Given the description of an element on the screen output the (x, y) to click on. 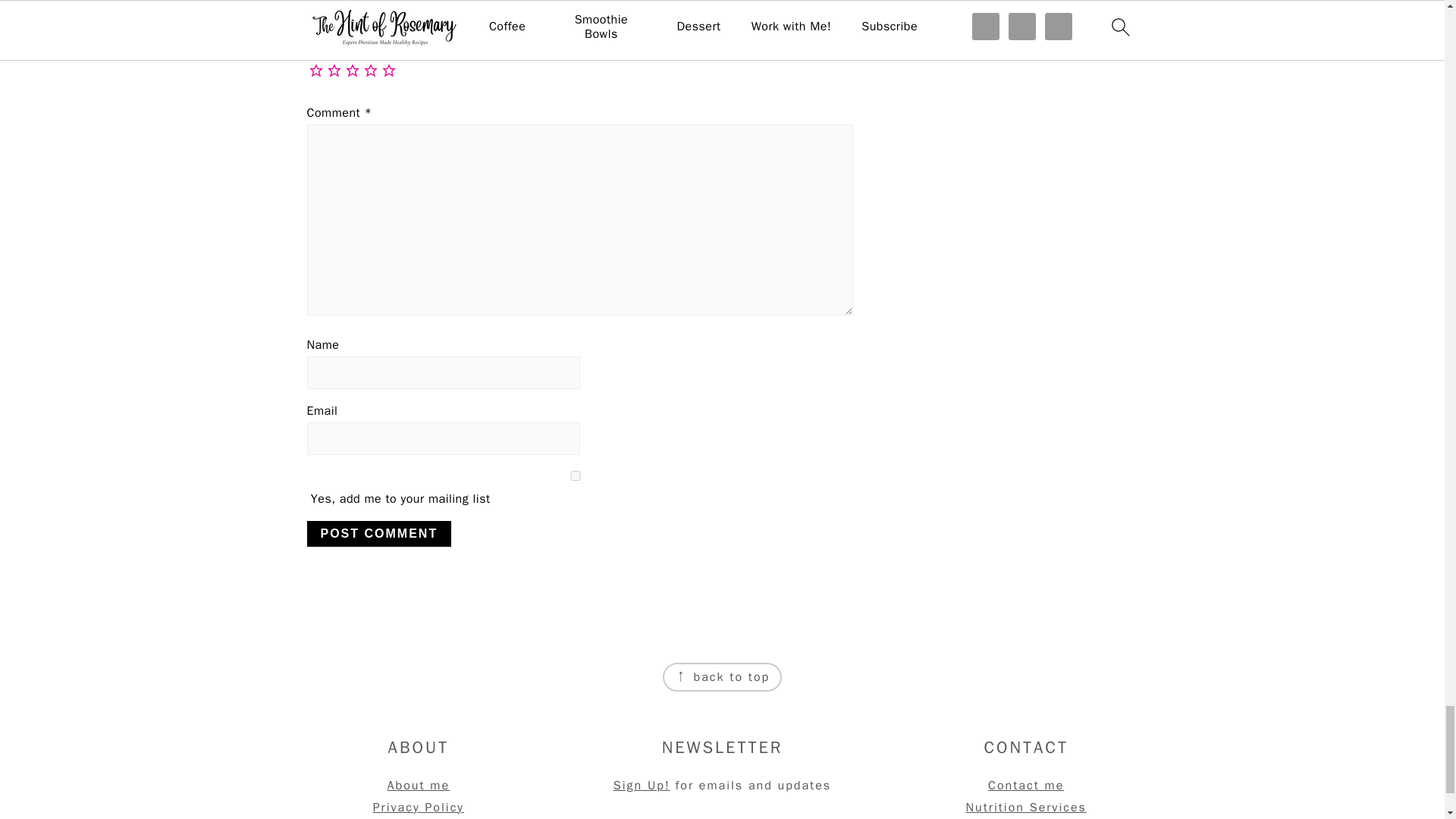
1 (574, 475)
Post Comment (378, 533)
